Given the description of an element on the screen output the (x, y) to click on. 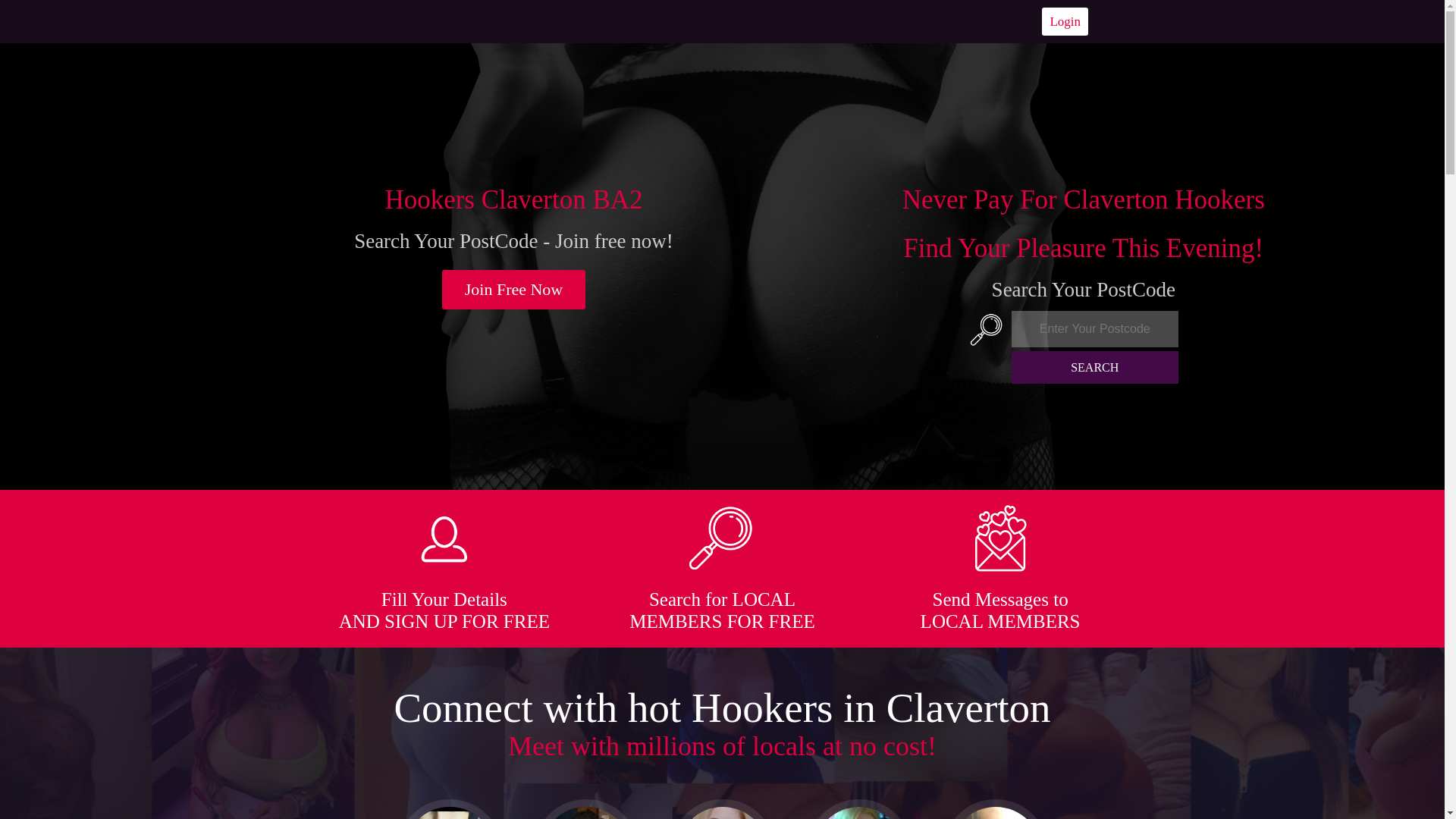
Join (514, 289)
Login (1064, 21)
SEARCH (1094, 367)
Login (1064, 21)
Join Free Now (514, 289)
